Given the description of an element on the screen output the (x, y) to click on. 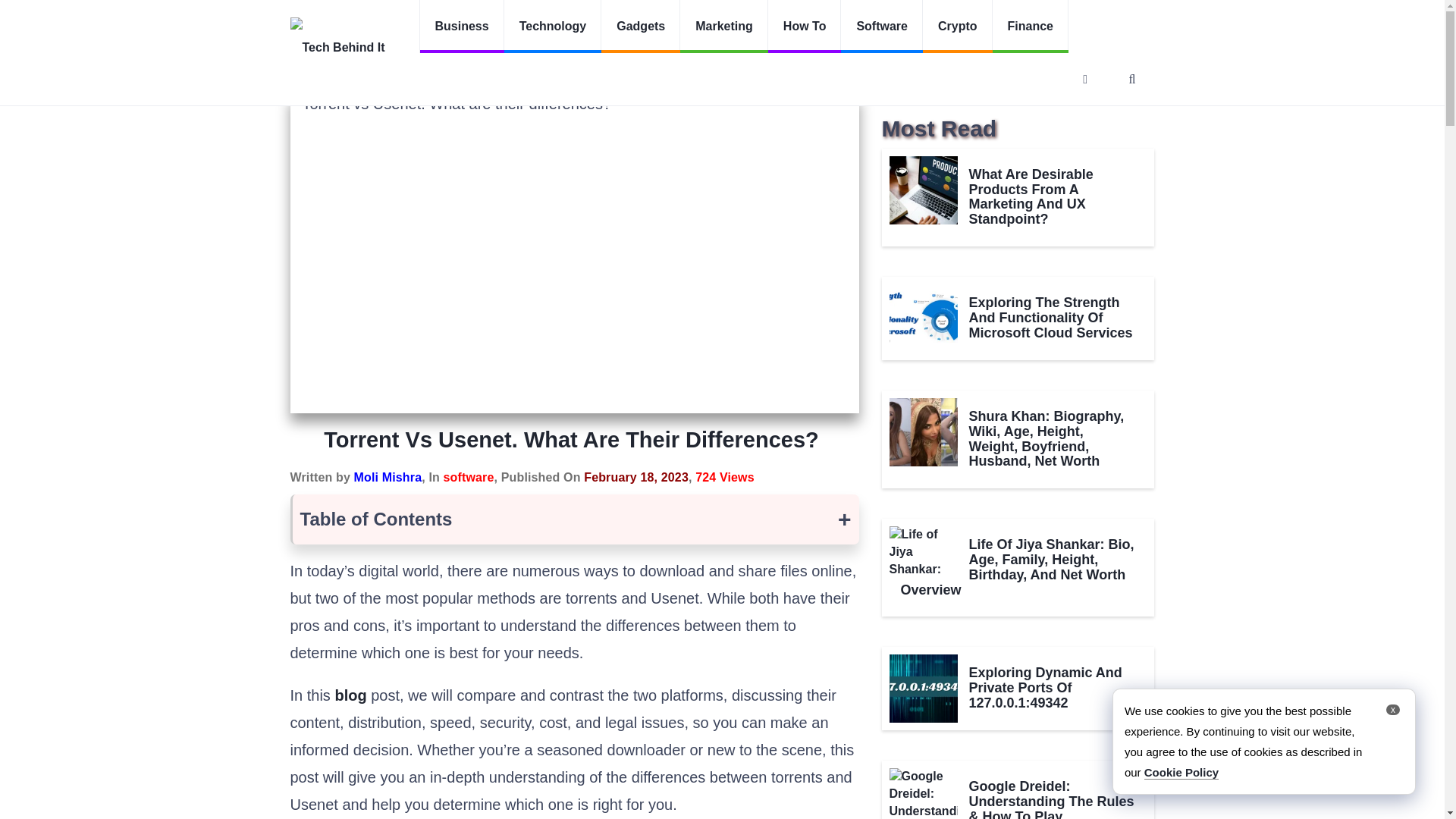
Tech Behind It (346, 43)
How To (804, 26)
Cookie Policy (1181, 772)
Torrent Vs Usenet. What Are Their Differences?  (515, 72)
Software (361, 72)
Marketing (723, 26)
Home (303, 72)
Crypto (957, 26)
Business (461, 26)
software (469, 477)
Technology (552, 26)
Software (882, 26)
